Given the description of an element on the screen output the (x, y) to click on. 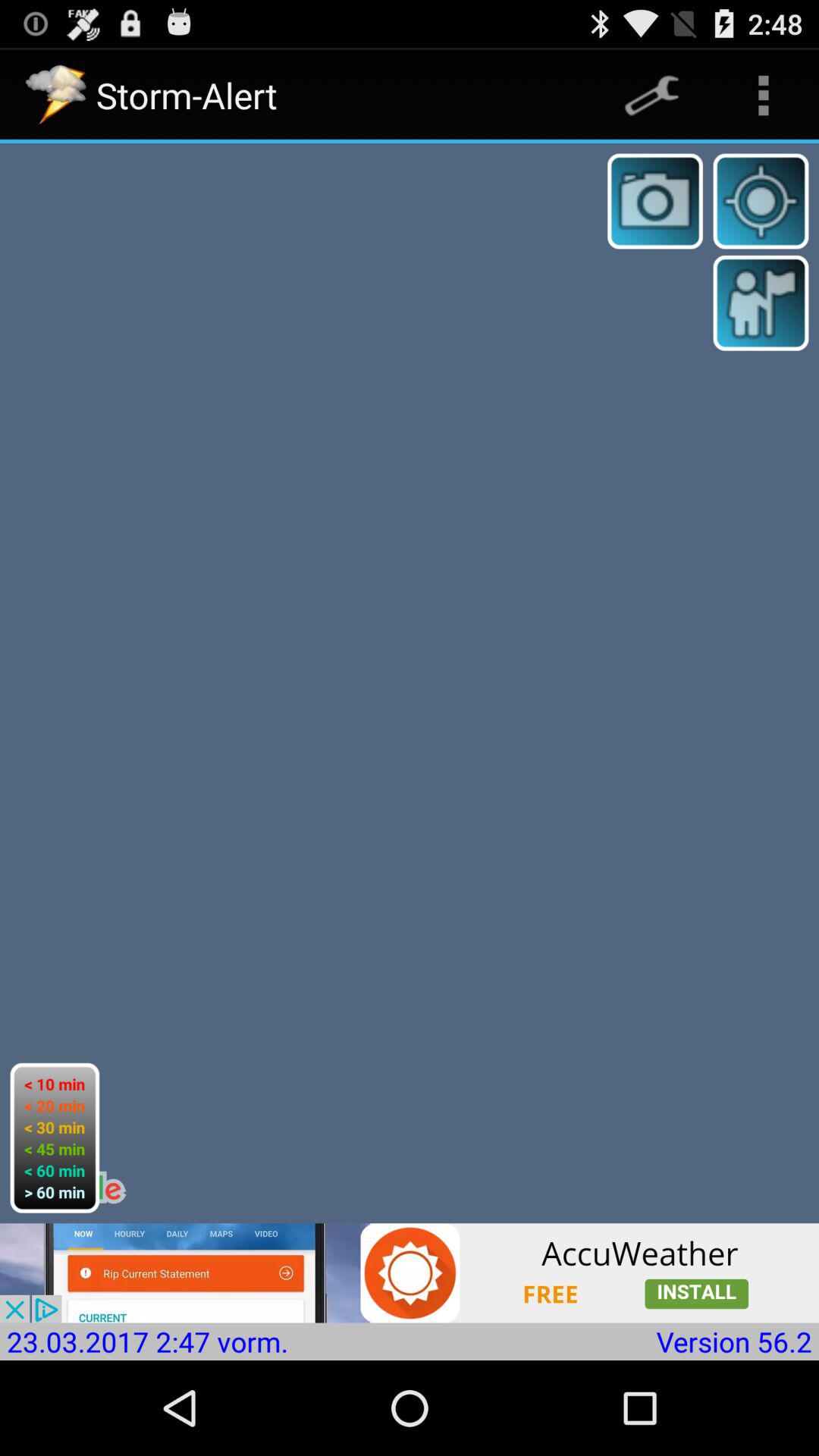
click on icon left to more button (651, 95)
